Given the description of an element on the screen output the (x, y) to click on. 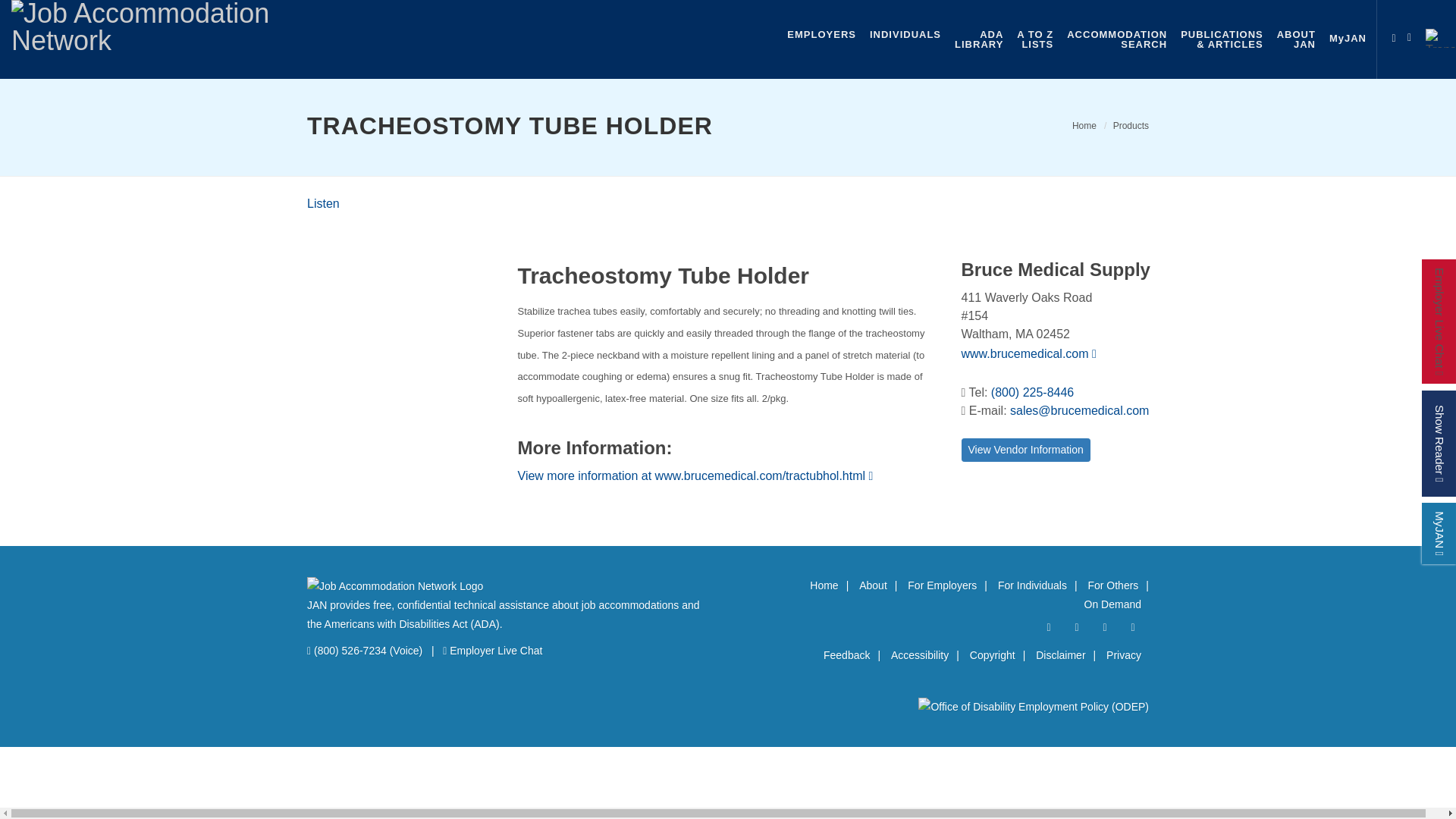
Open Menu (1394, 35)
Listen (323, 203)
INDIVIDUALS (1117, 39)
Listen to this page using ReadSpeaker webReader (905, 34)
EMPLOYERS (323, 203)
Home (820, 34)
Products (1083, 125)
Open Search (1130, 125)
www.brucemedical.com (1412, 35)
